Given the description of an element on the screen output the (x, y) to click on. 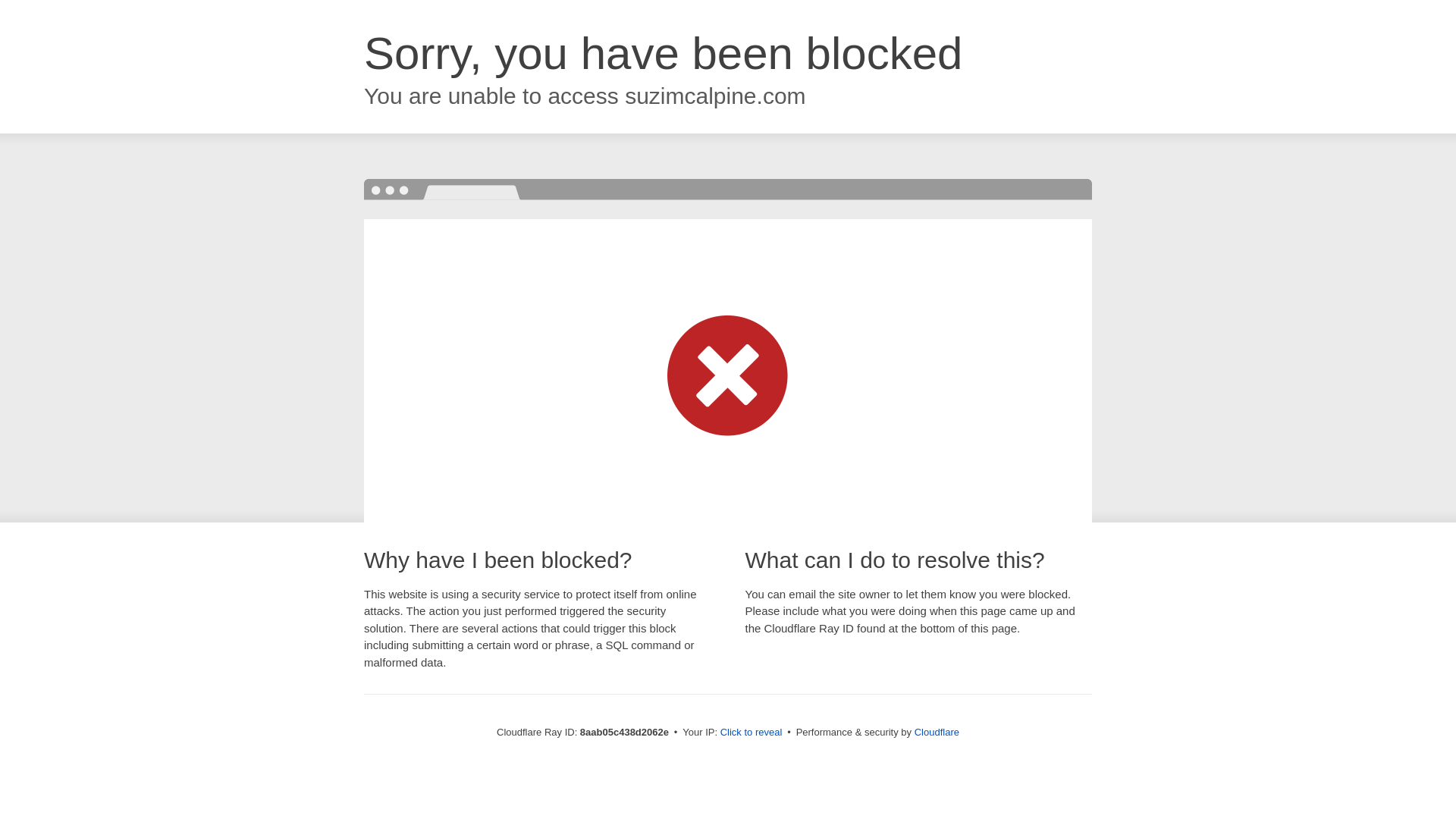
Click to reveal (751, 732)
Cloudflare (936, 731)
